Given the description of an element on the screen output the (x, y) to click on. 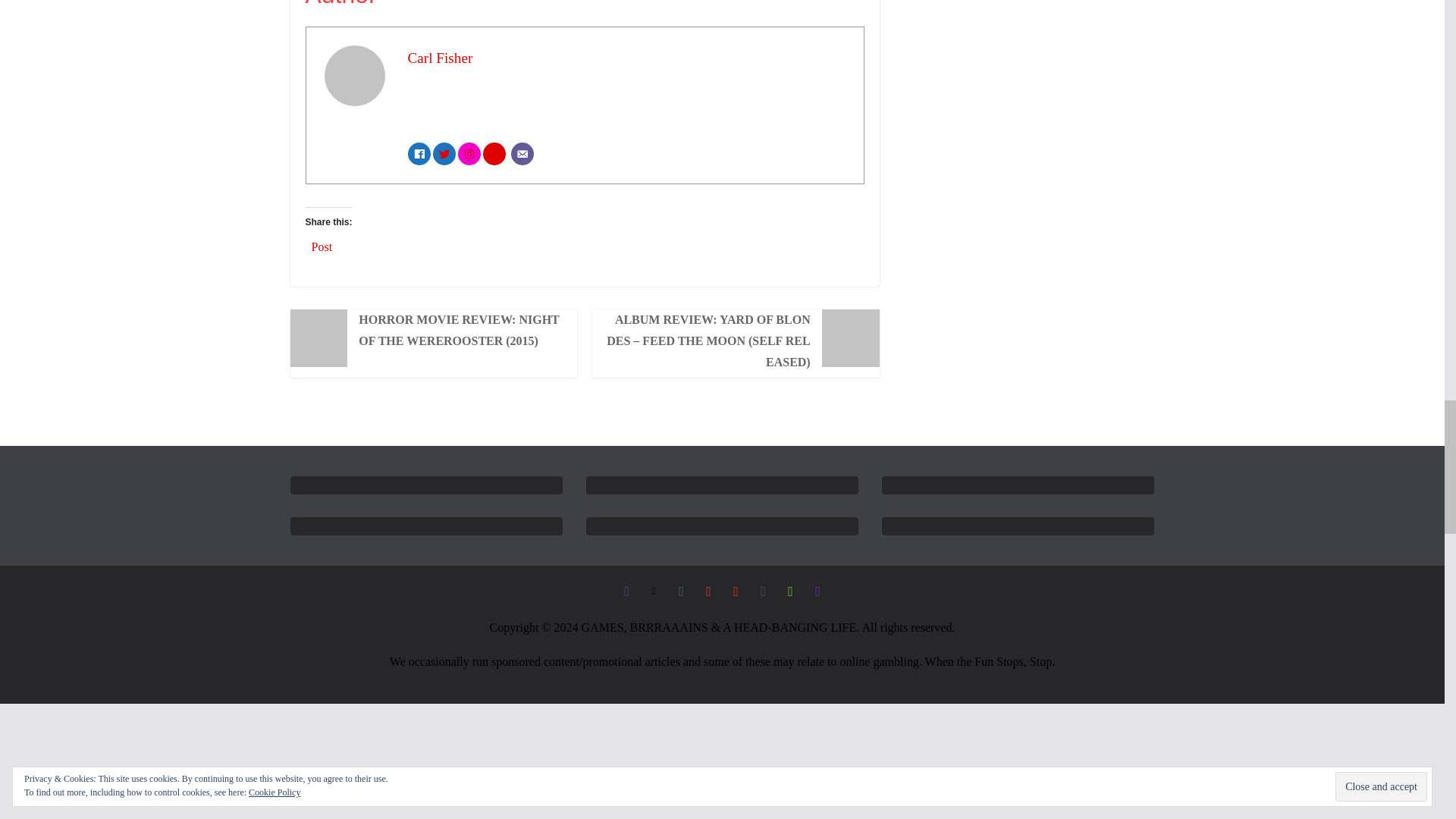
Carl Fisher (440, 57)
